Given the description of an element on the screen output the (x, y) to click on. 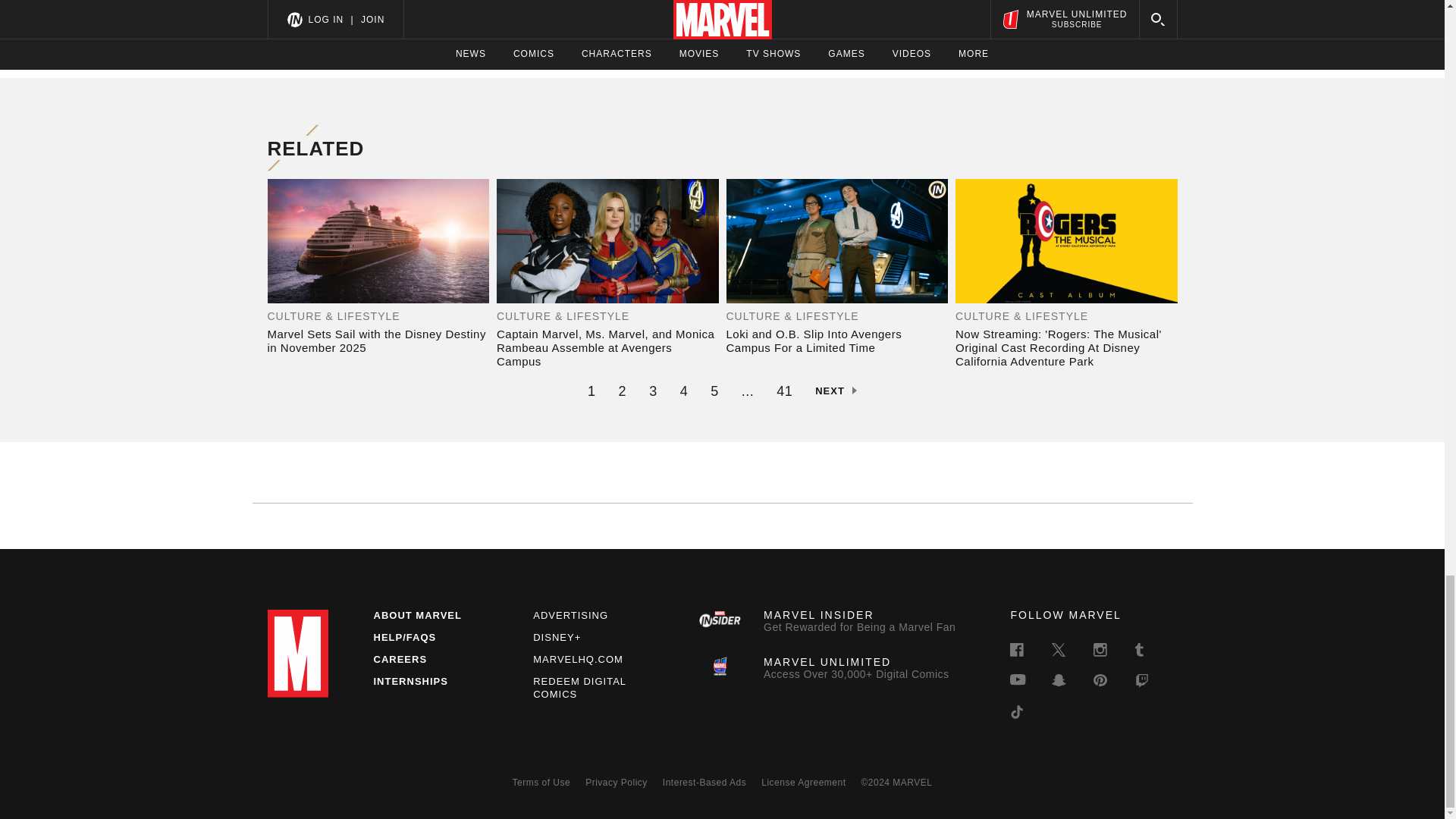
Marvel Sets Sail with the Disney Destiny in November 2025 (377, 340)
